Given the description of an element on the screen output the (x, y) to click on. 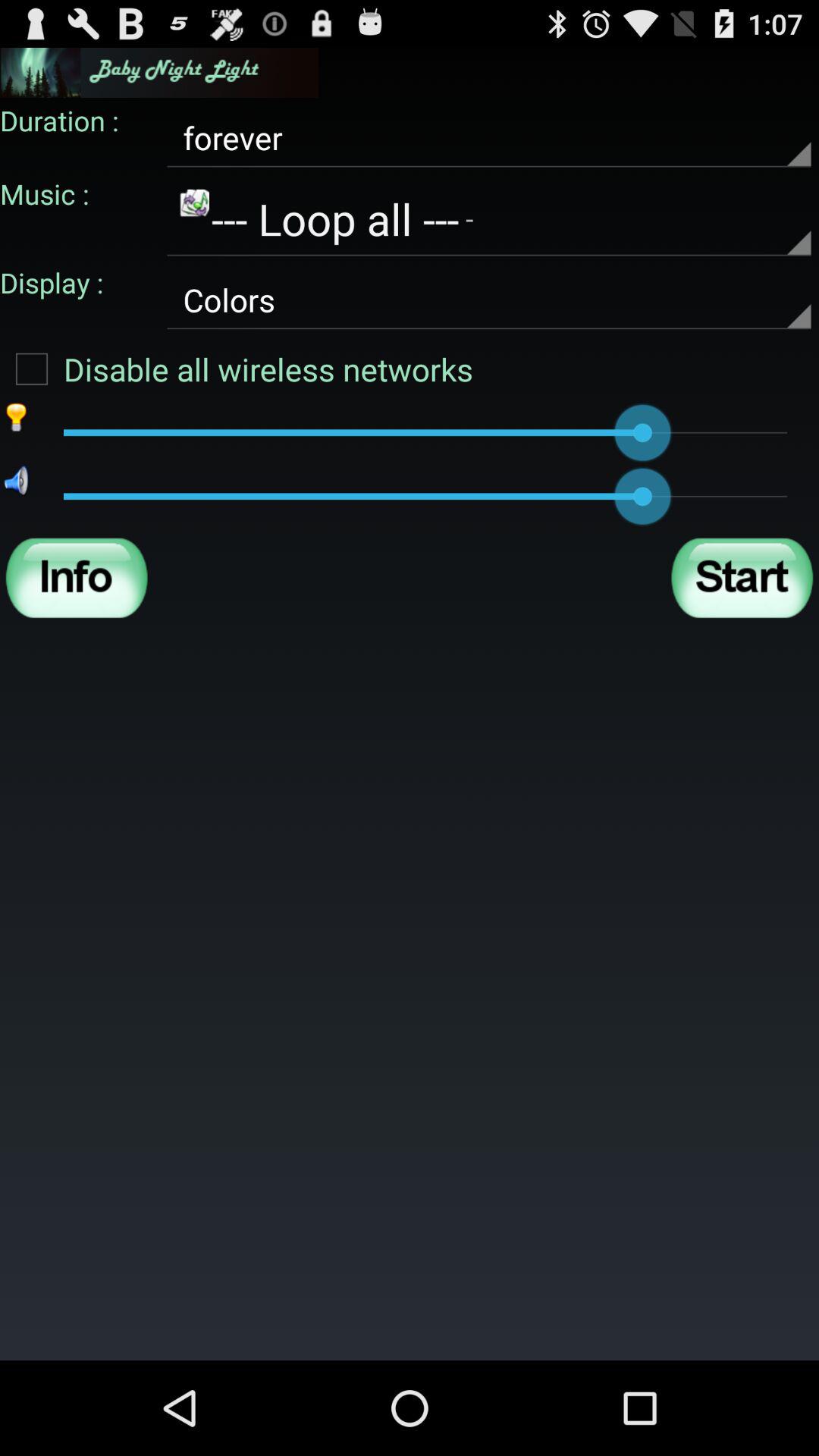
view information (76, 577)
